Given the description of an element on the screen output the (x, y) to click on. 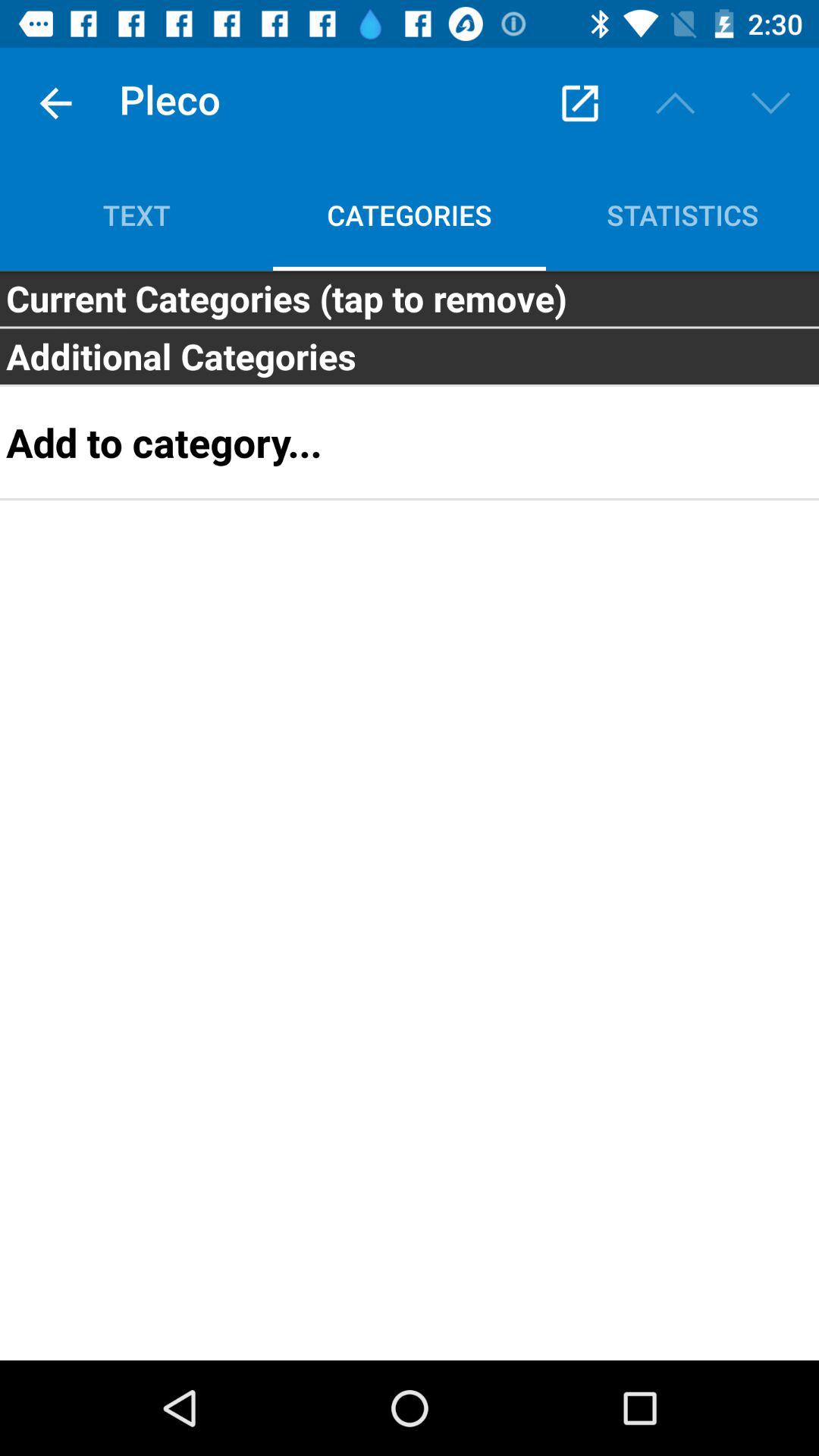
turn on item to the left of the pleco item (55, 103)
